Given the description of an element on the screen output the (x, y) to click on. 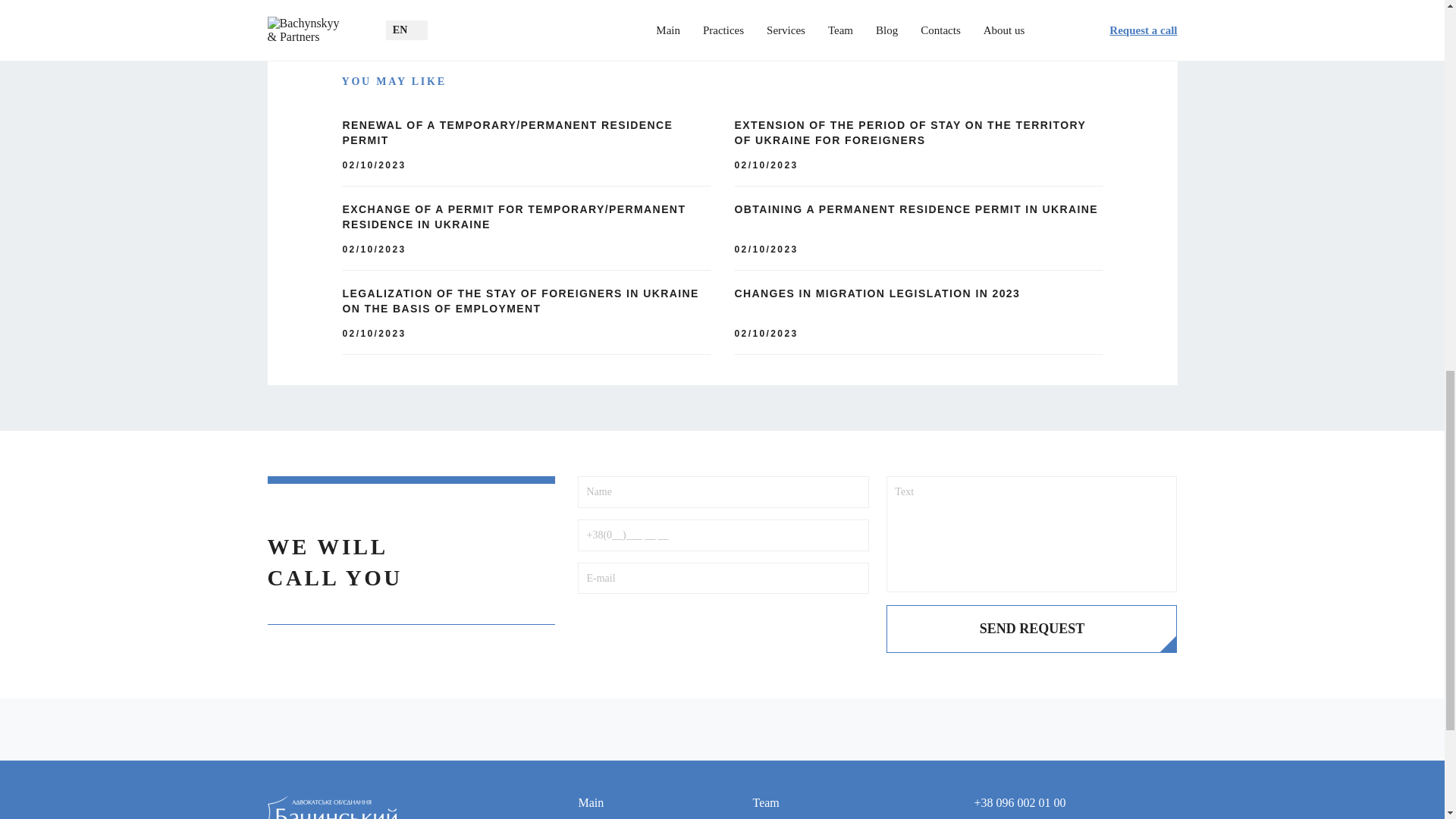
Team (793, 802)
SEND REQUEST (1031, 628)
Main (619, 802)
